Given the description of an element on the screen output the (x, y) to click on. 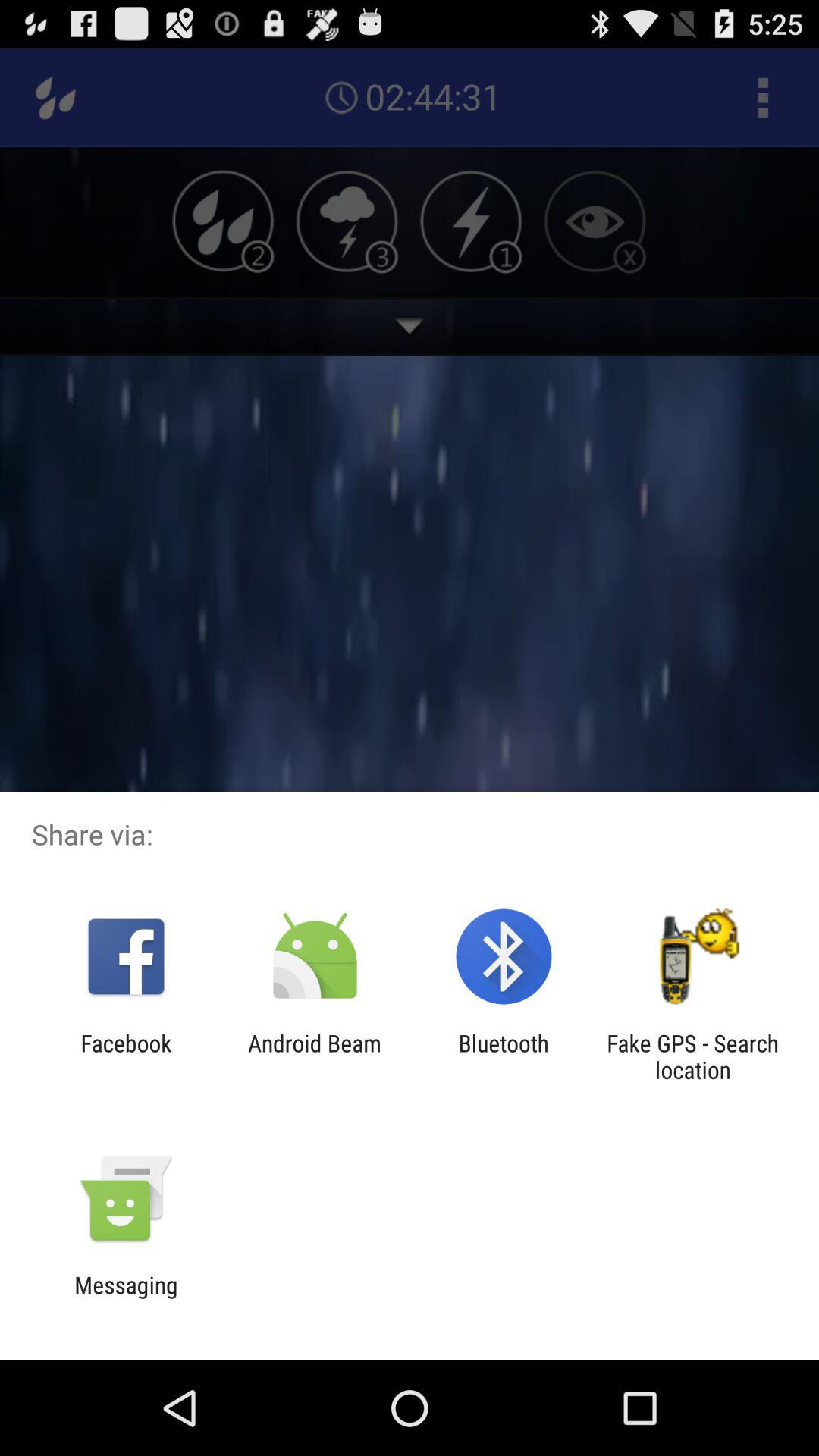
tap app next to the fake gps search app (503, 1056)
